Given the description of an element on the screen output the (x, y) to click on. 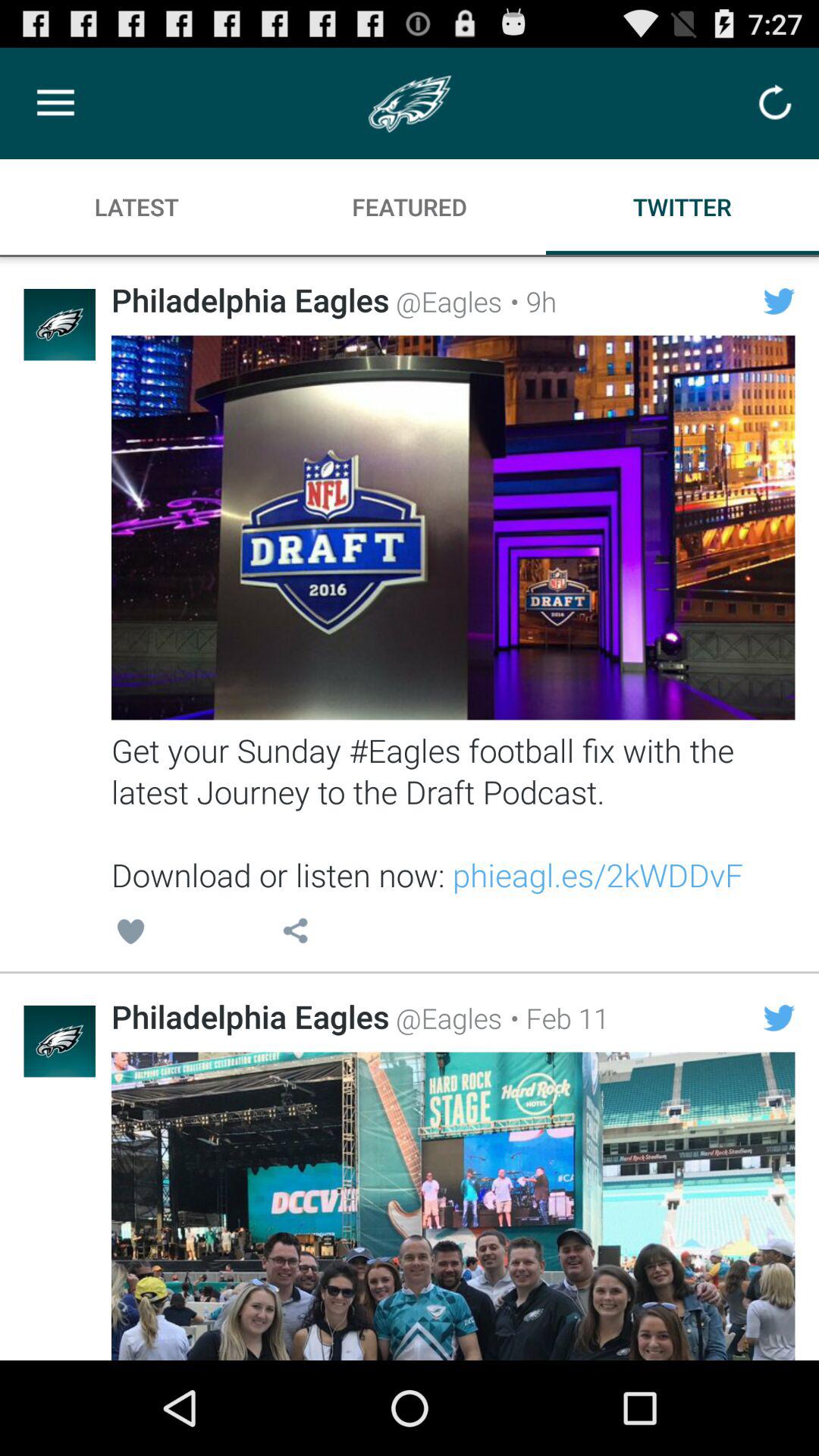
turn on the icon above philadelphia eagles icon (131, 933)
